Given the description of an element on the screen output the (x, y) to click on. 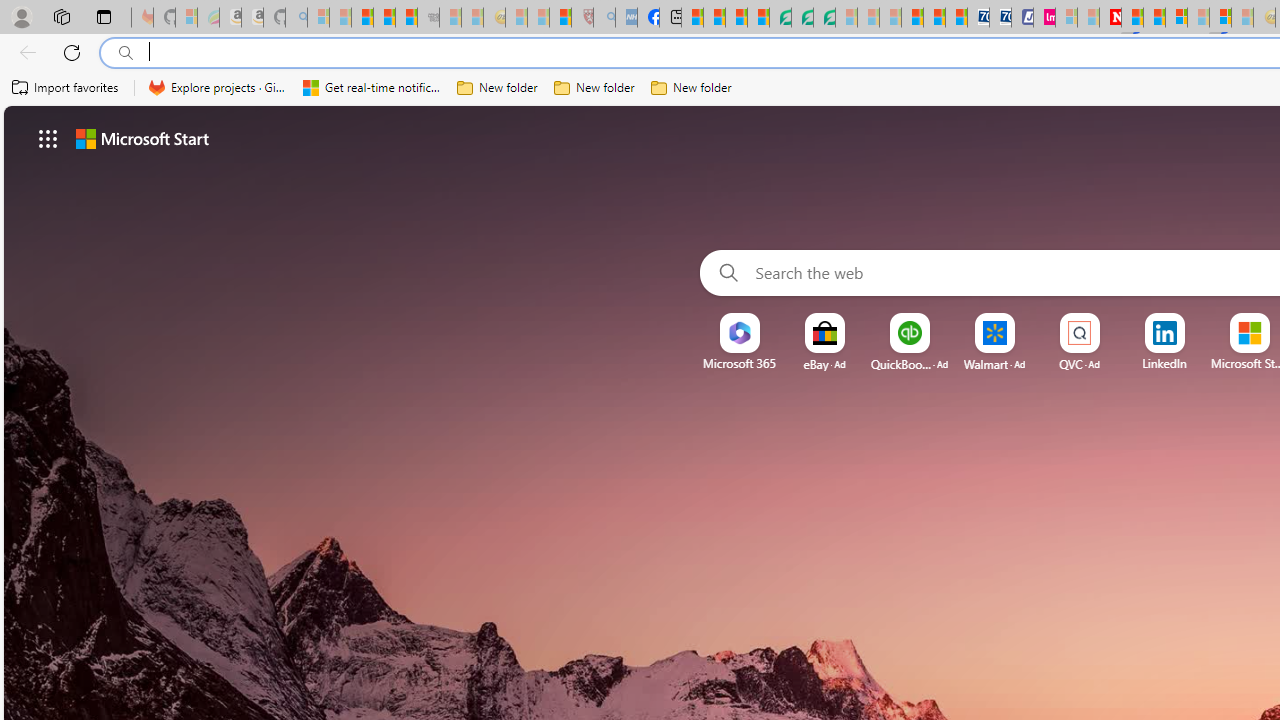
Microsoft Start - Sleeping (1088, 17)
To get missing image descriptions, open the context menu. (739, 333)
Robert H. Shmerling, MD - Harvard Health - Sleeping (582, 17)
Cheap Car Rentals - Save70.com (978, 17)
LendingTree - Compare Lenders (780, 17)
Microsoft start (142, 138)
